Given the description of an element on the screen output the (x, y) to click on. 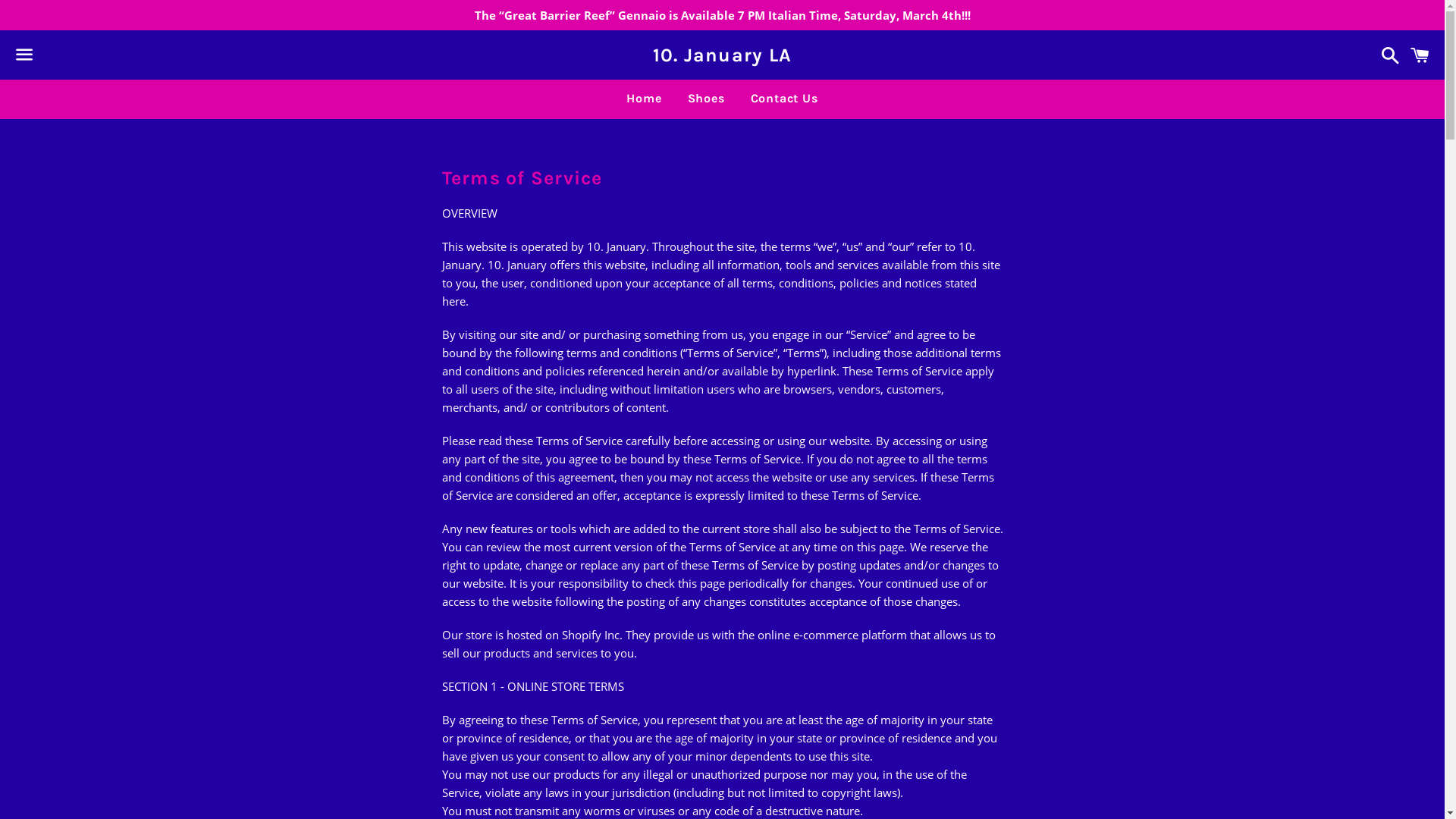
10. January LA Element type: text (721, 54)
Cart Element type: text (1419, 54)
Home Element type: text (643, 98)
Shoes Element type: text (706, 98)
Menu Element type: text (24, 54)
Search Element type: text (1386, 54)
Contact Us Element type: text (784, 98)
